Given the description of an element on the screen output the (x, y) to click on. 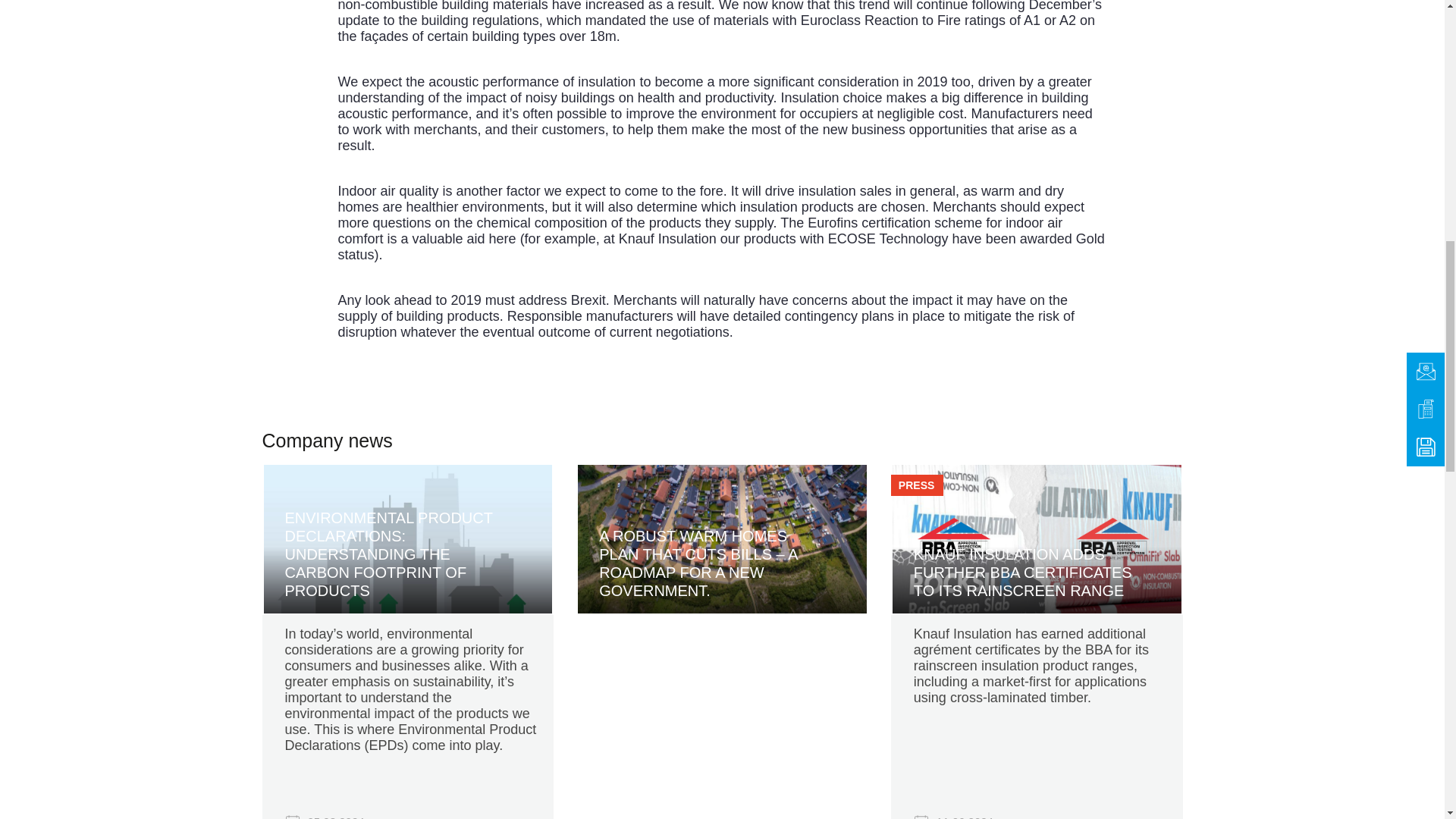
EPD blog header (408, 539)
RainScreen and OmniFit BBA certified (1036, 539)
New build housing estate (722, 539)
